Given the description of an element on the screen output the (x, y) to click on. 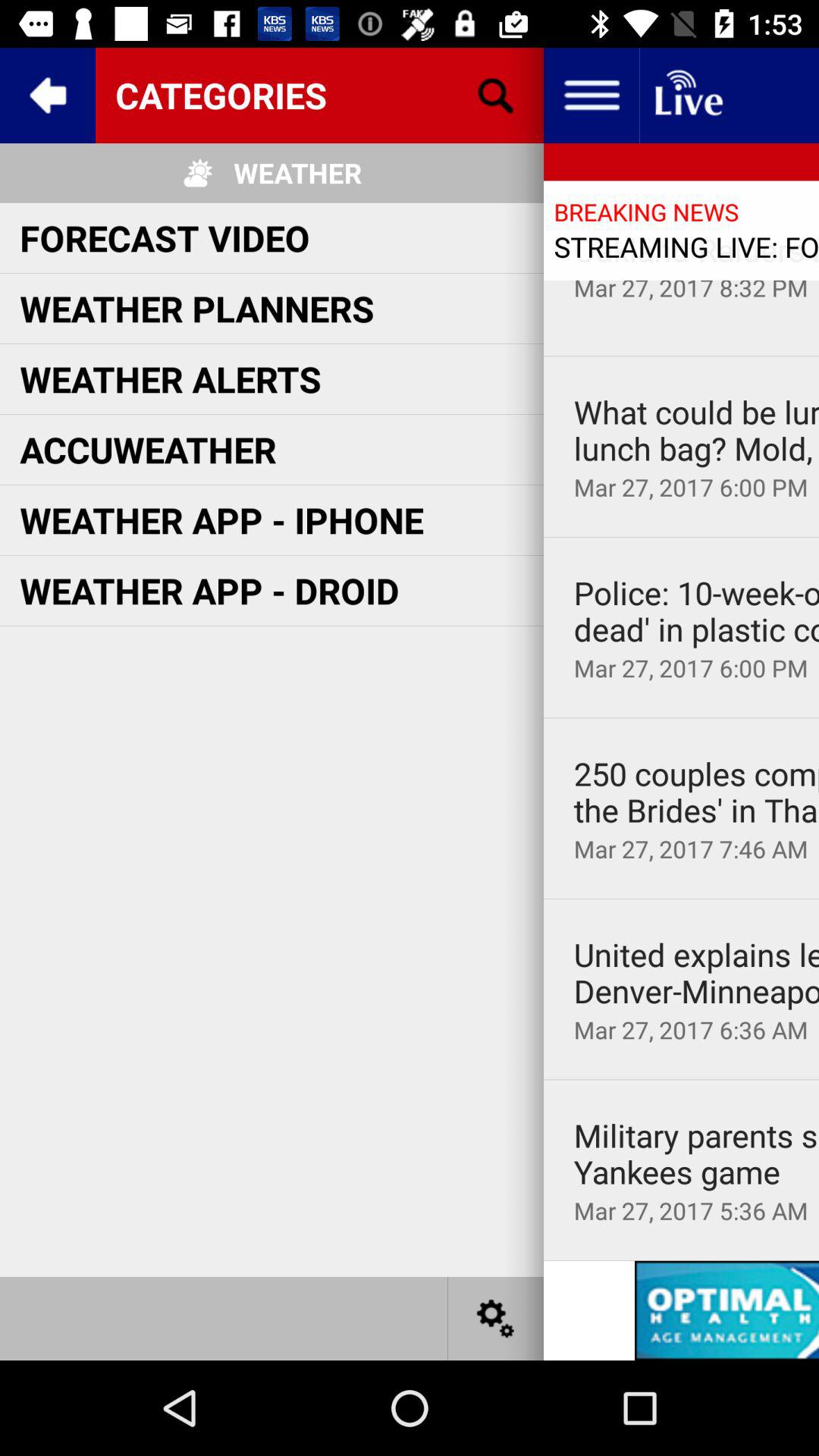
select the item below weather planners (170, 378)
